Given the description of an element on the screen output the (x, y) to click on. 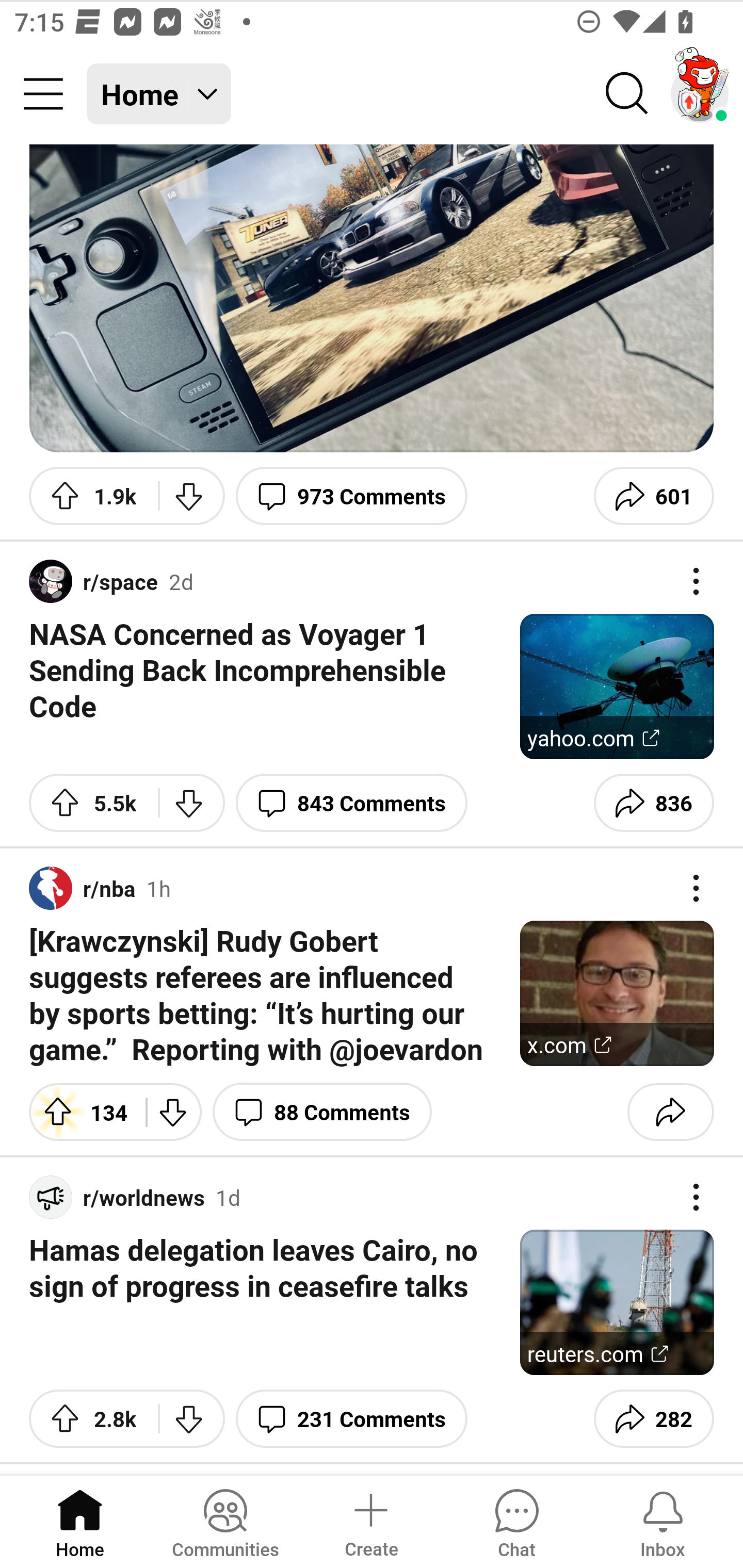
Community menu (43, 93)
Home Home feed (158, 93)
Search (626, 93)
TestAppium002 account (699, 93)
Home (80, 1520)
Communities (225, 1520)
Create a post Create (370, 1520)
Chat (516, 1520)
Inbox (662, 1520)
